Given the description of an element on the screen output the (x, y) to click on. 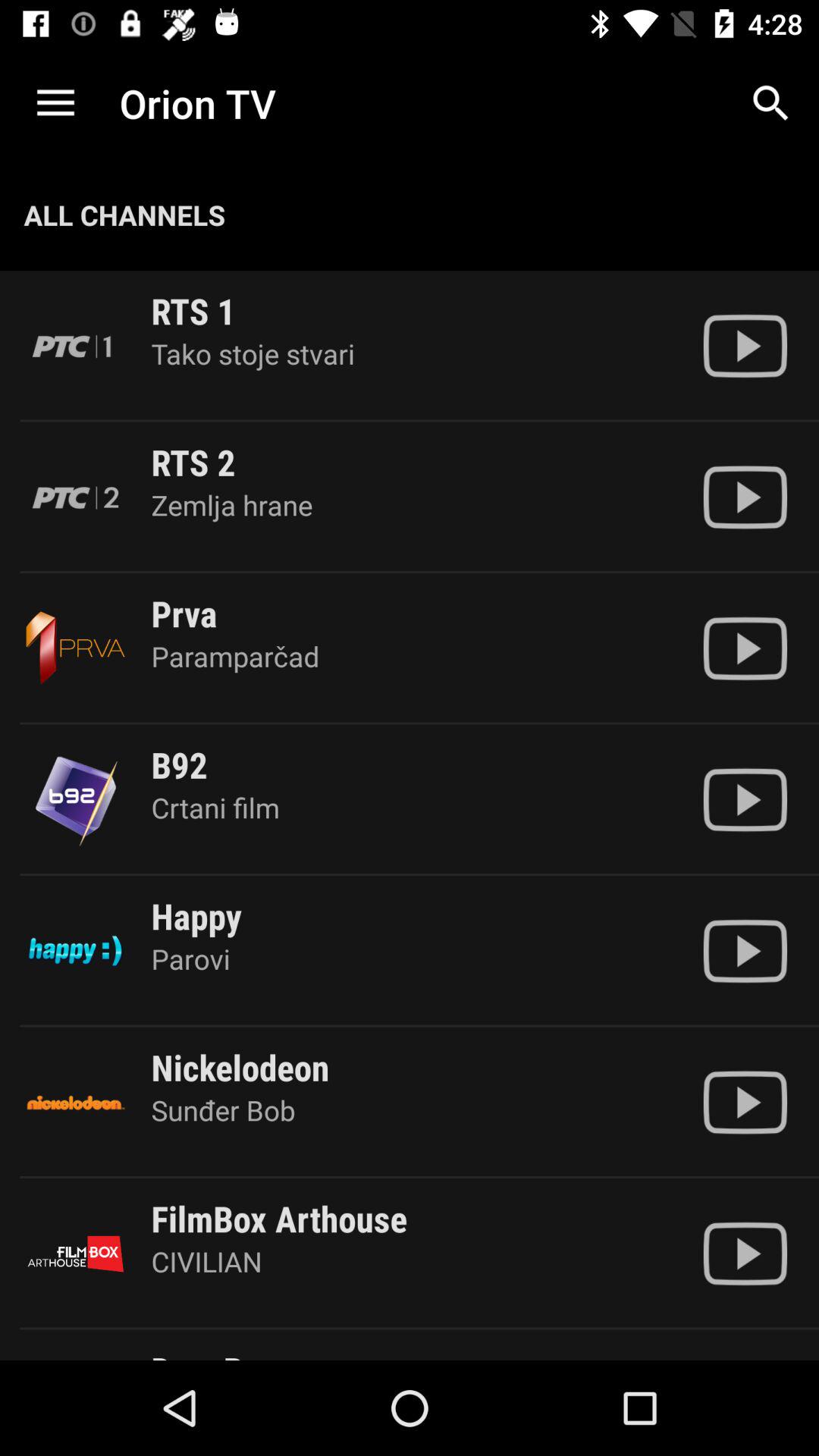
playback start (745, 799)
